Given the description of an element on the screen output the (x, y) to click on. 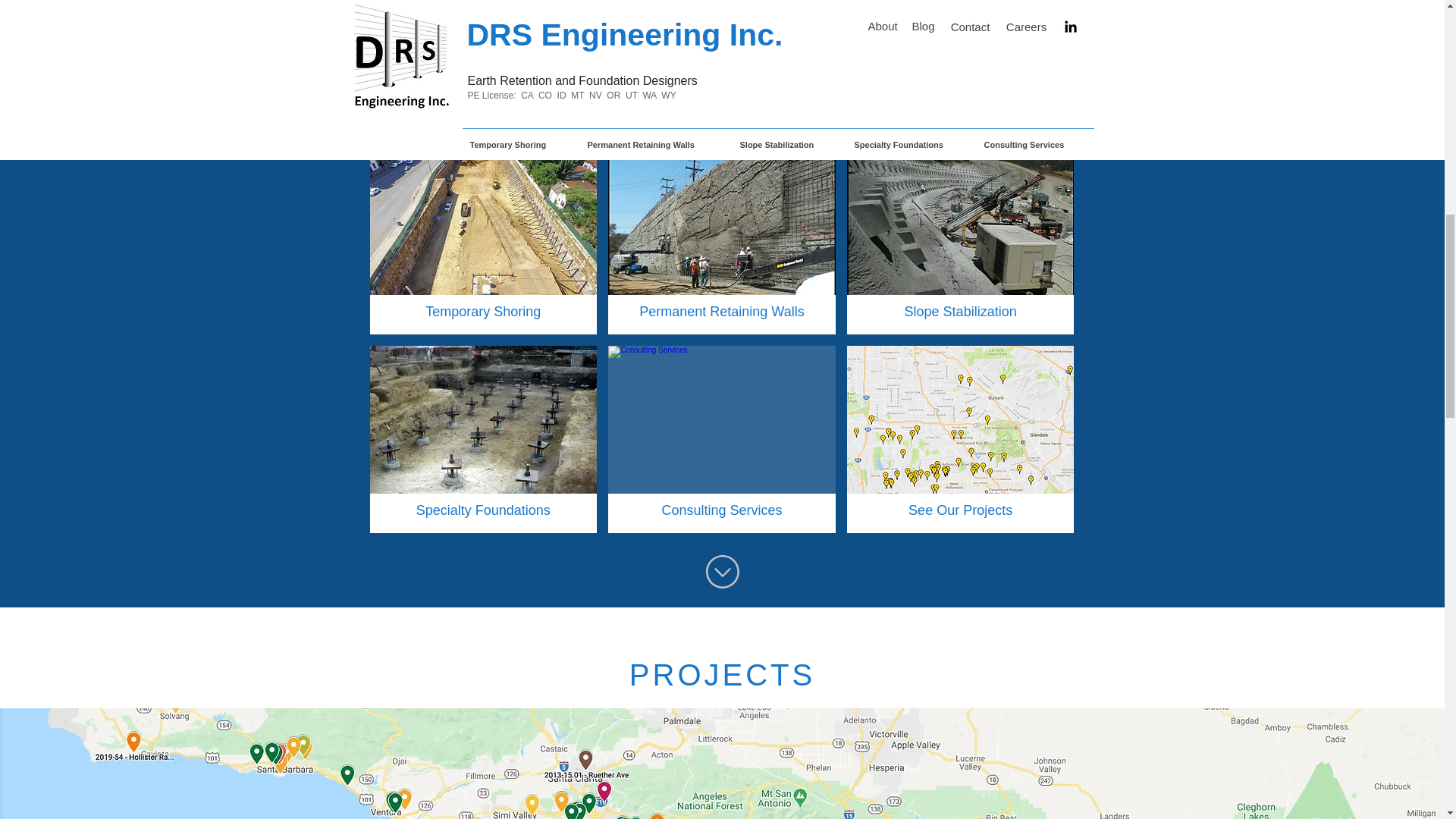
Permanent Retaining Walls (721, 240)
Consulting Services (721, 439)
Slope Stabilization (960, 240)
See Our Projects (960, 439)
Temporary Shoring (482, 240)
Specialty Foundations (482, 439)
